Given the description of an element on the screen output the (x, y) to click on. 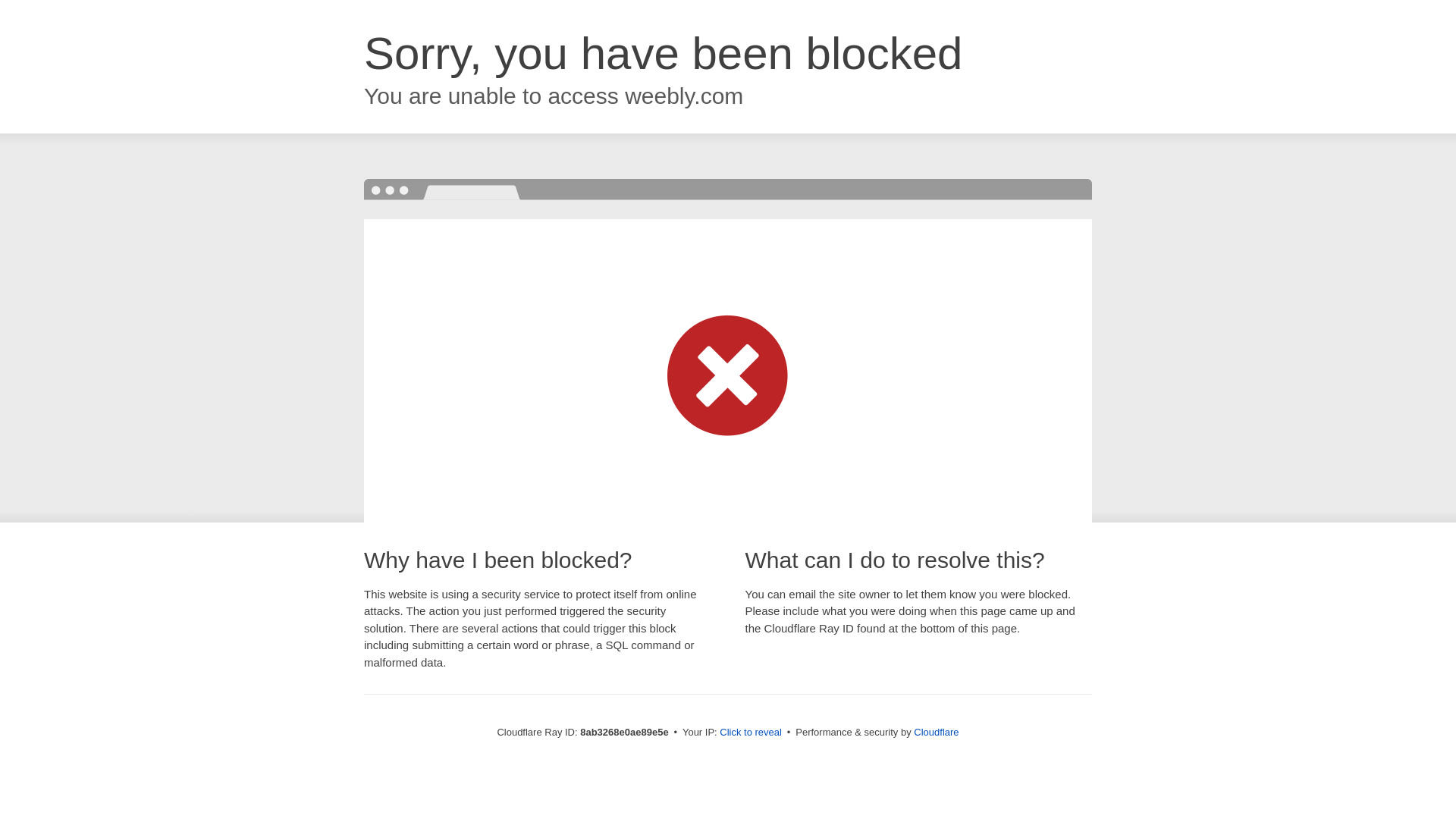
Click to reveal (750, 732)
Cloudflare (936, 731)
